Given the description of an element on the screen output the (x, y) to click on. 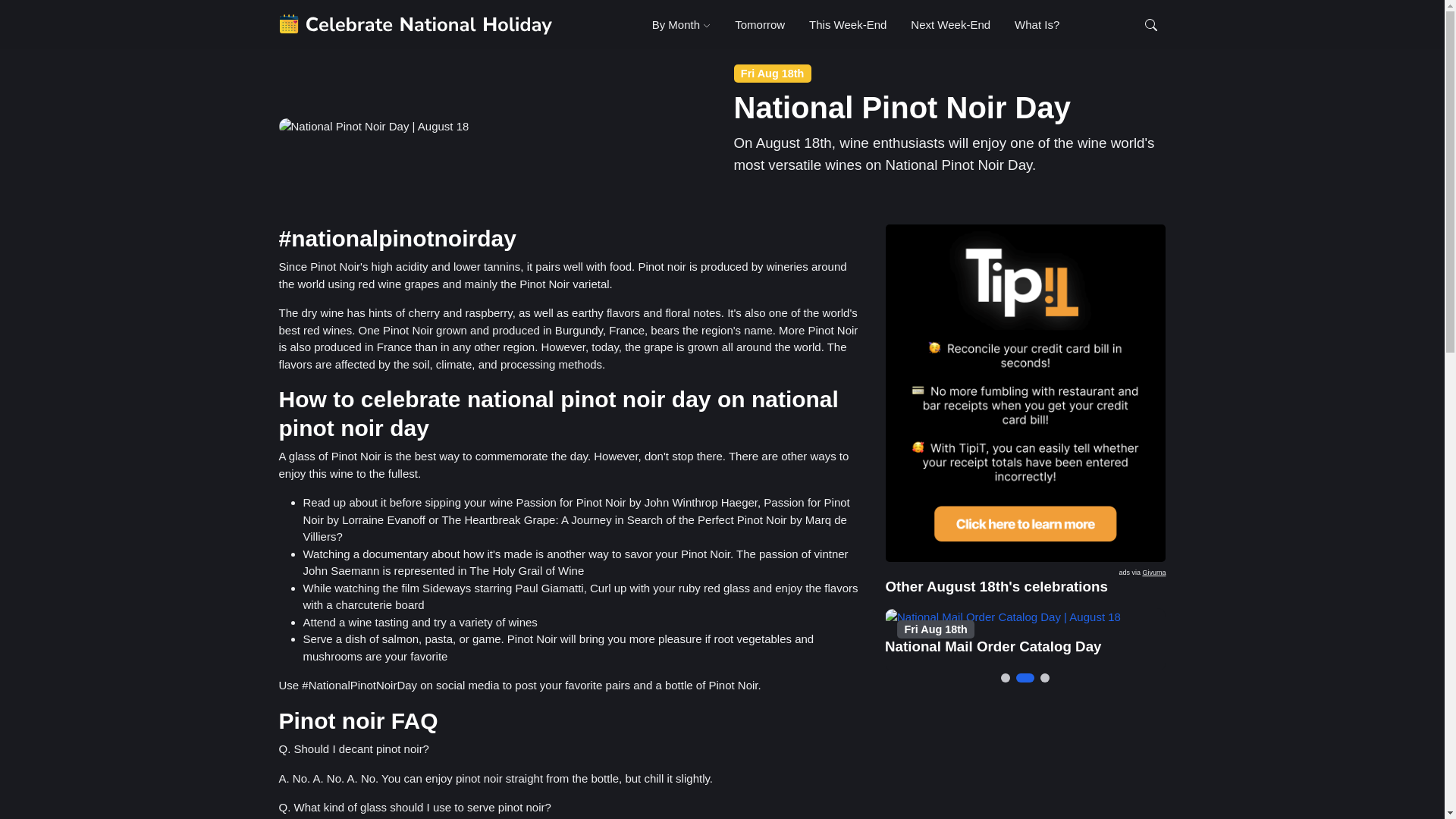
Fri Aug 18th (936, 628)
National Mail Order Catalog Day (849, 24)
This Week-End (993, 646)
By Month (847, 24)
Givuma (681, 24)
Tomorrow (1153, 572)
Fri Aug 18th (759, 24)
